Given the description of an element on the screen output the (x, y) to click on. 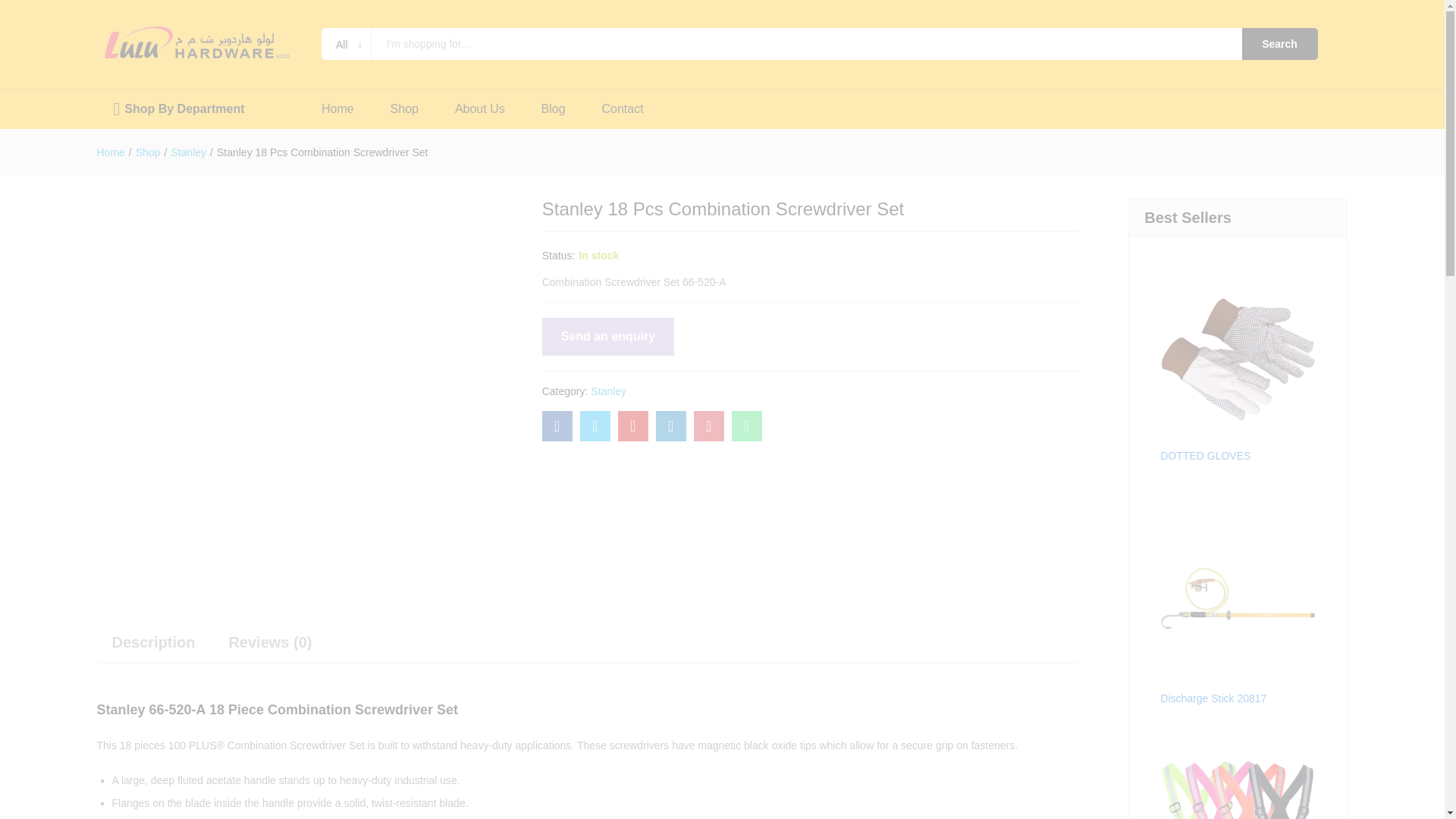
Blog (553, 109)
Home (111, 152)
Contact (622, 109)
Home (337, 109)
Stanley 18 Pcs Combination Screwdriver Set (746, 426)
About Us (479, 109)
Search (1279, 43)
Stanley 18 Pcs Combination Screwdriver Set (632, 426)
Shop (404, 109)
Send an enquiry (607, 336)
